Given the description of an element on the screen output the (x, y) to click on. 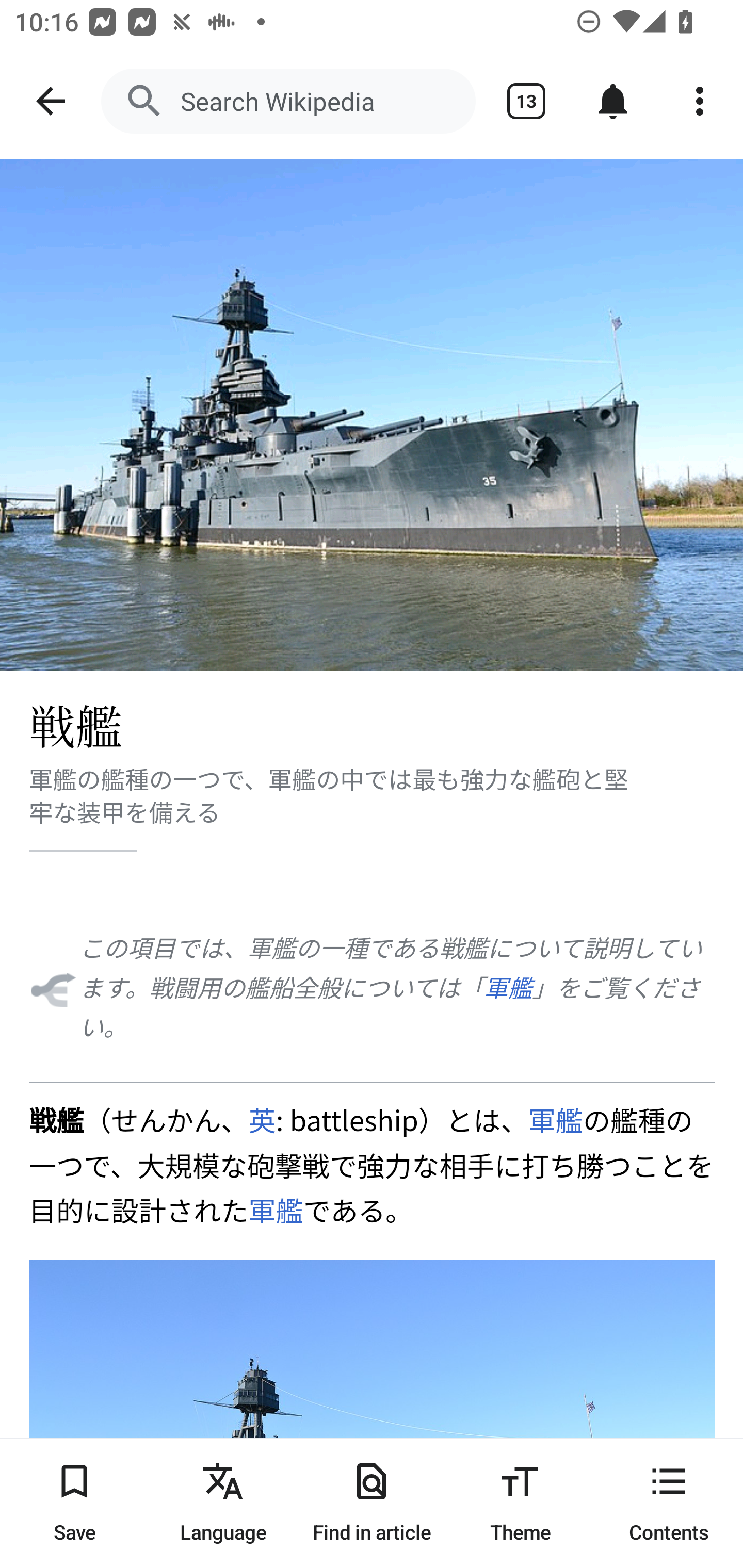
Show tabs 13 (525, 100)
Notifications (612, 100)
Navigate up (50, 101)
More options (699, 101)
Search Wikipedia (288, 100)
Image: 戦艦 (371, 414)
曖昧さ回避 (51, 986)
軍艦 (507, 986)
英 (261, 1119)
軍艦 (556, 1119)
軍艦 (275, 1210)
Save (74, 1502)
Language (222, 1502)
Find in article (371, 1502)
Theme (519, 1502)
Contents (668, 1502)
